Given the description of an element on the screen output the (x, y) to click on. 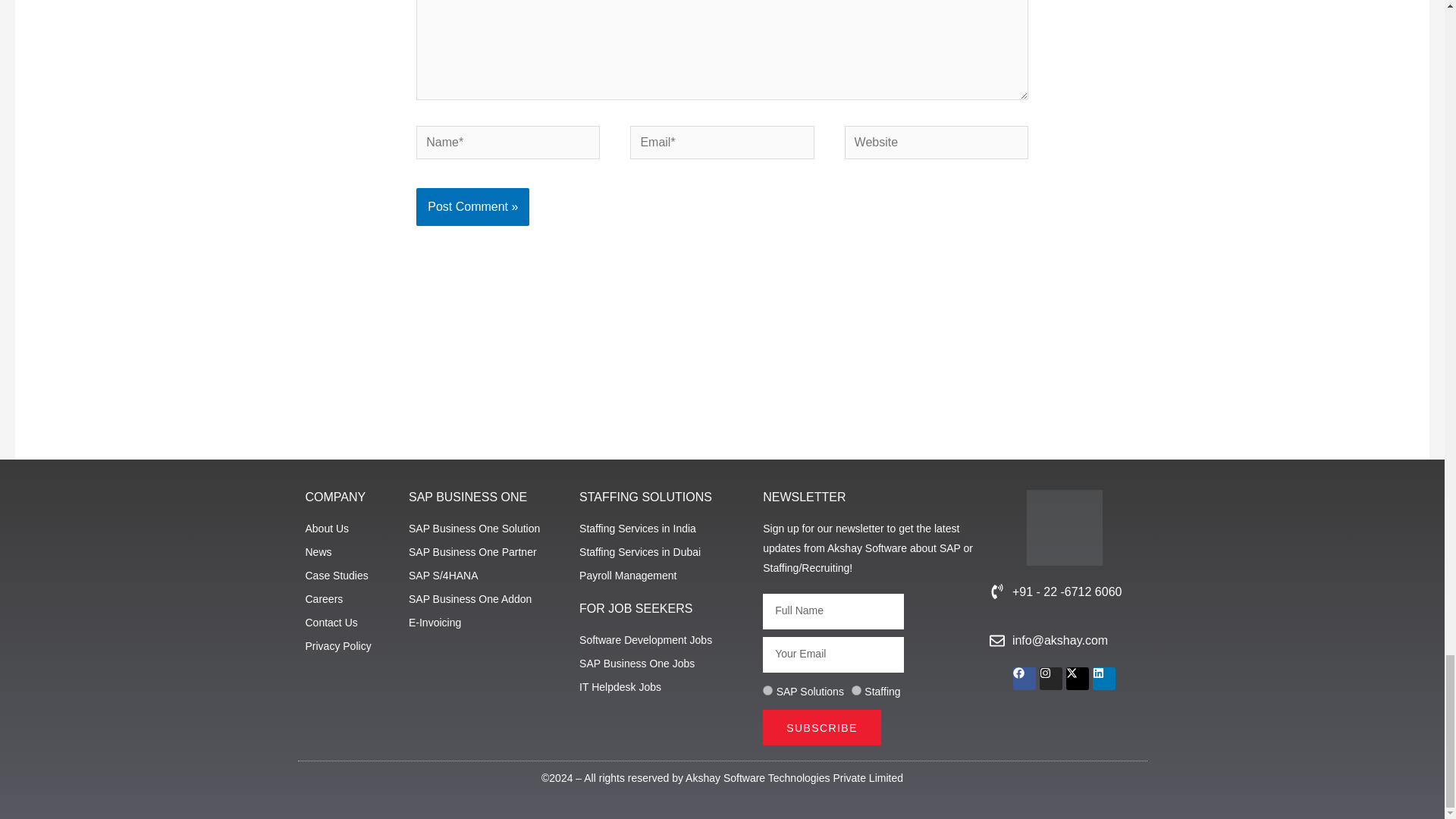
1 (767, 690)
2 (856, 690)
